Given the description of an element on the screen output the (x, y) to click on. 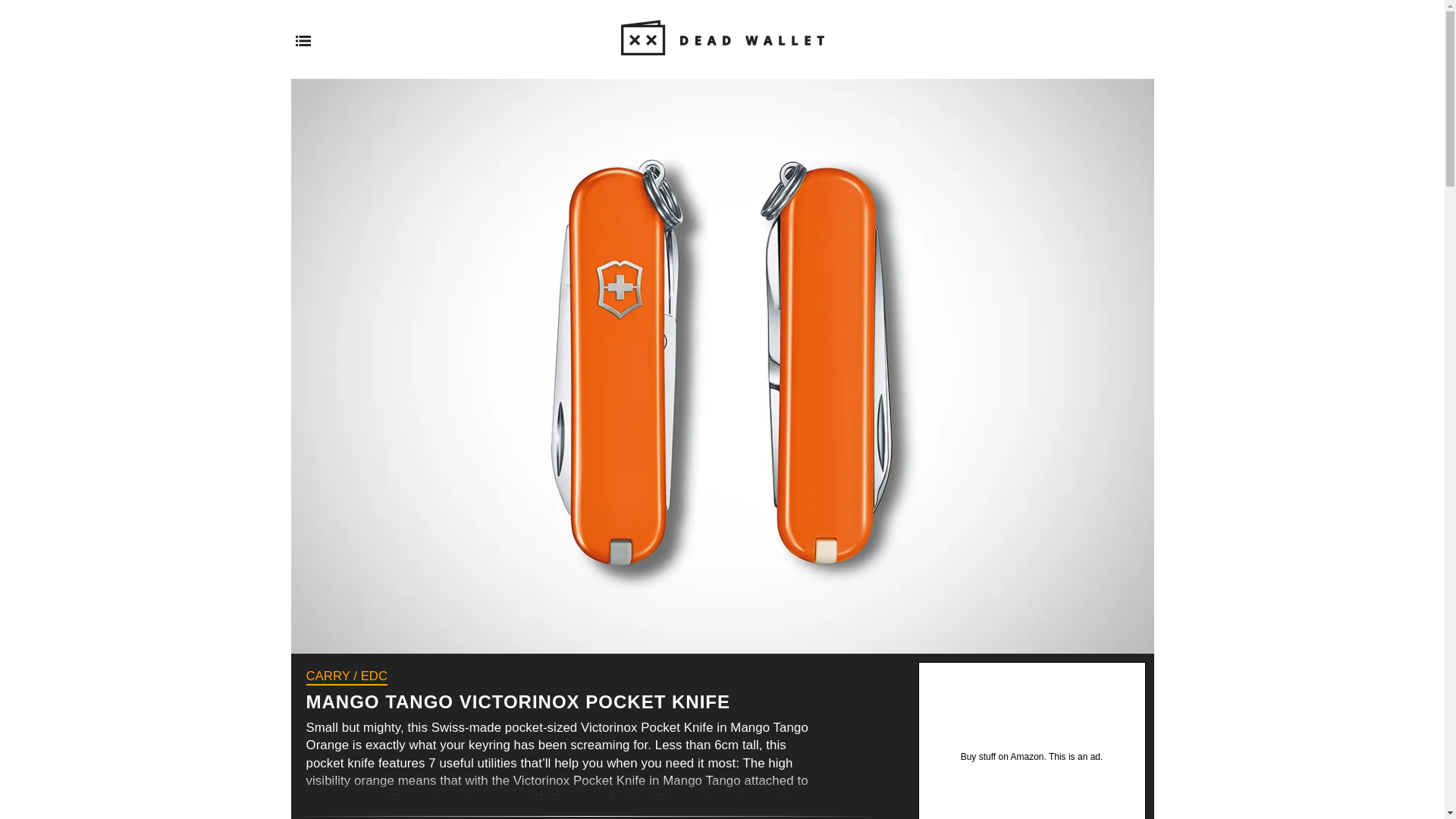
CARRY (327, 676)
EDC (374, 676)
Mango Tango Victorinox Pocket Knife (517, 701)
Dead Wallet Home (721, 64)
Buy stuff on Amazon. This is an ad. (1032, 740)
MANGO TANGO VICTORINOX POCKET KNIFE (517, 701)
Mango Tango Victorinox Pocket Knife (585, 769)
